Given the description of an element on the screen output the (x, y) to click on. 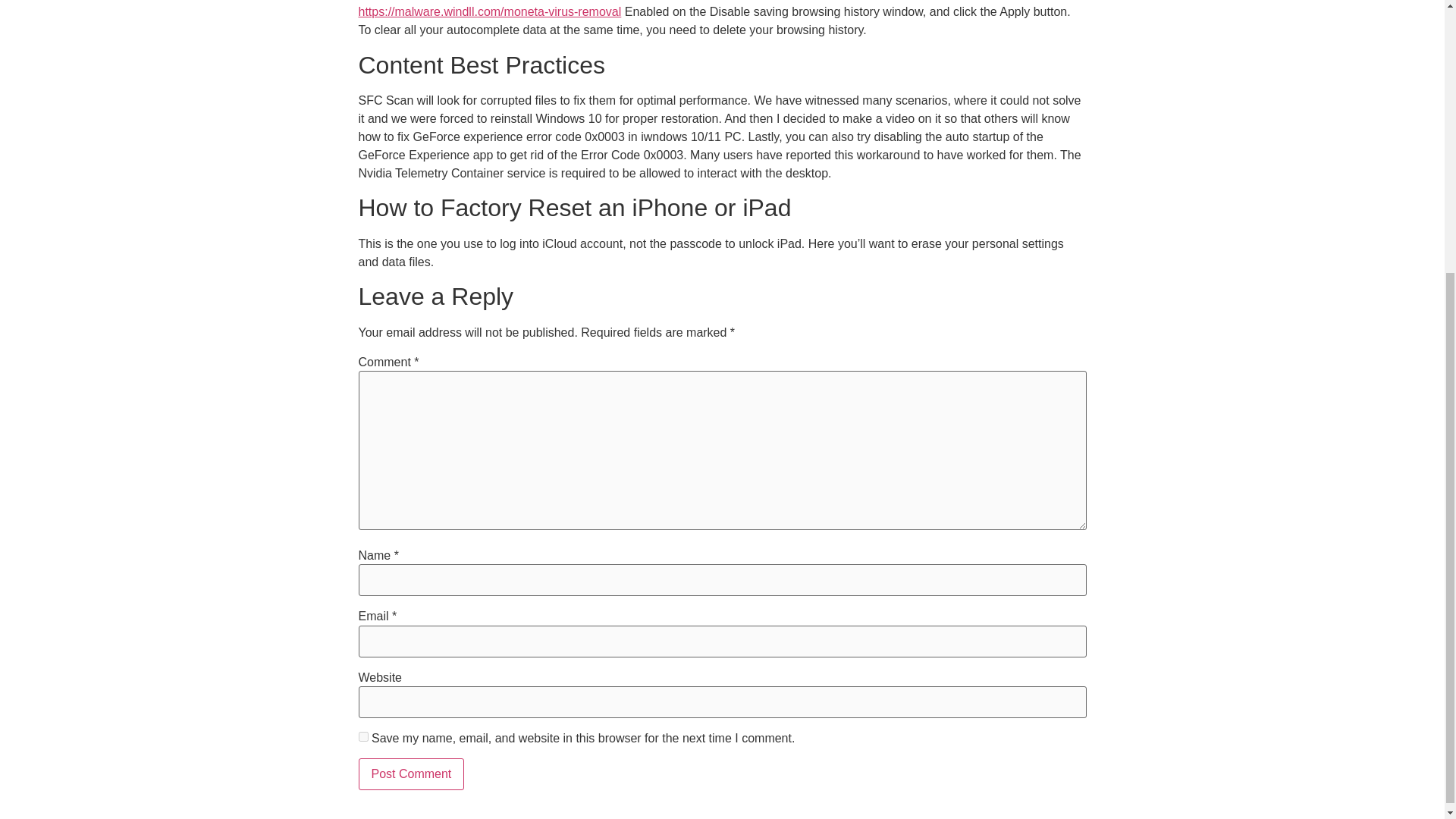
yes (363, 737)
Post Comment (411, 774)
Post Comment (411, 774)
